Given the description of an element on the screen output the (x, y) to click on. 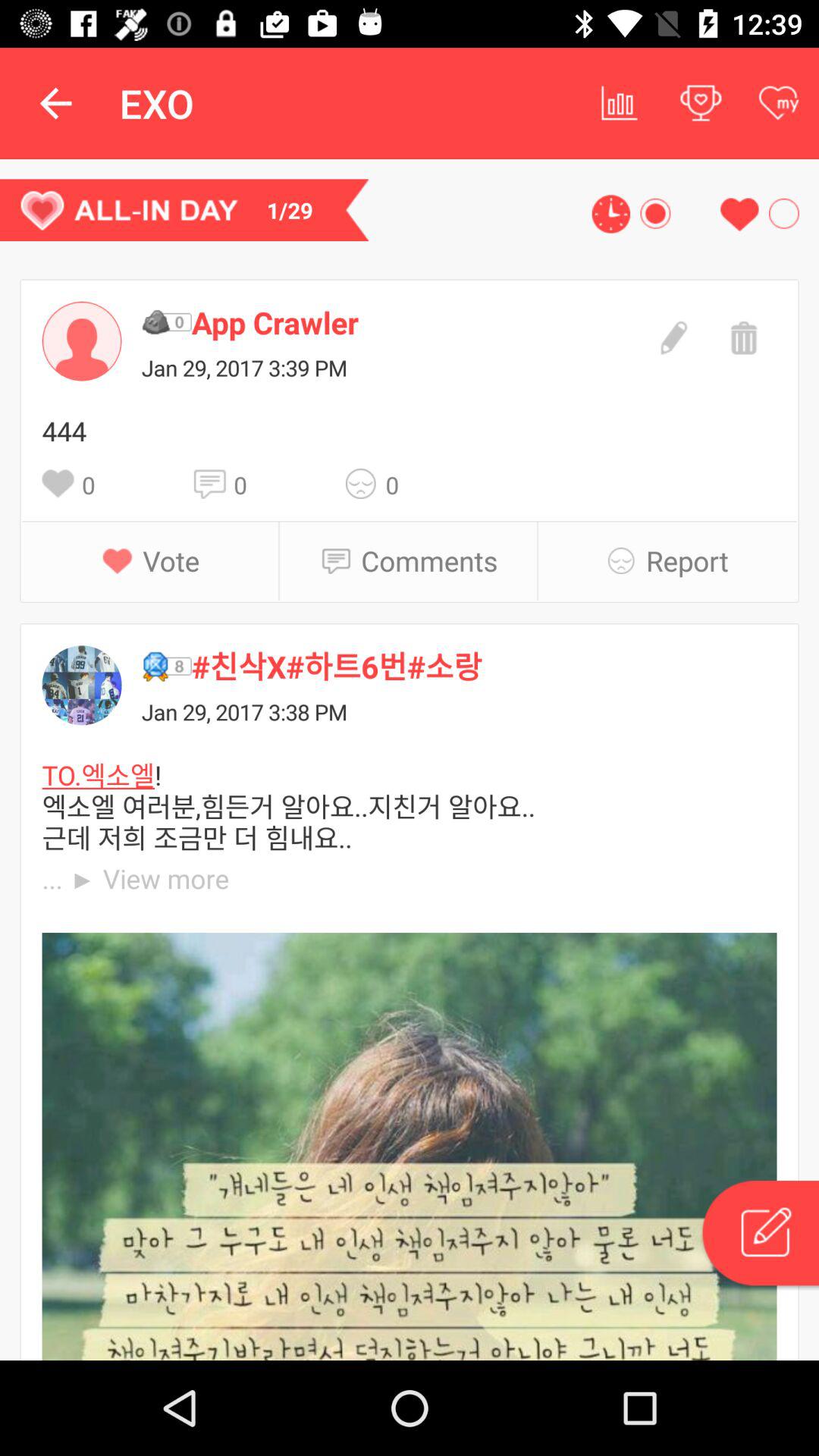
edit post (671, 336)
